Given the description of an element on the screen output the (x, y) to click on. 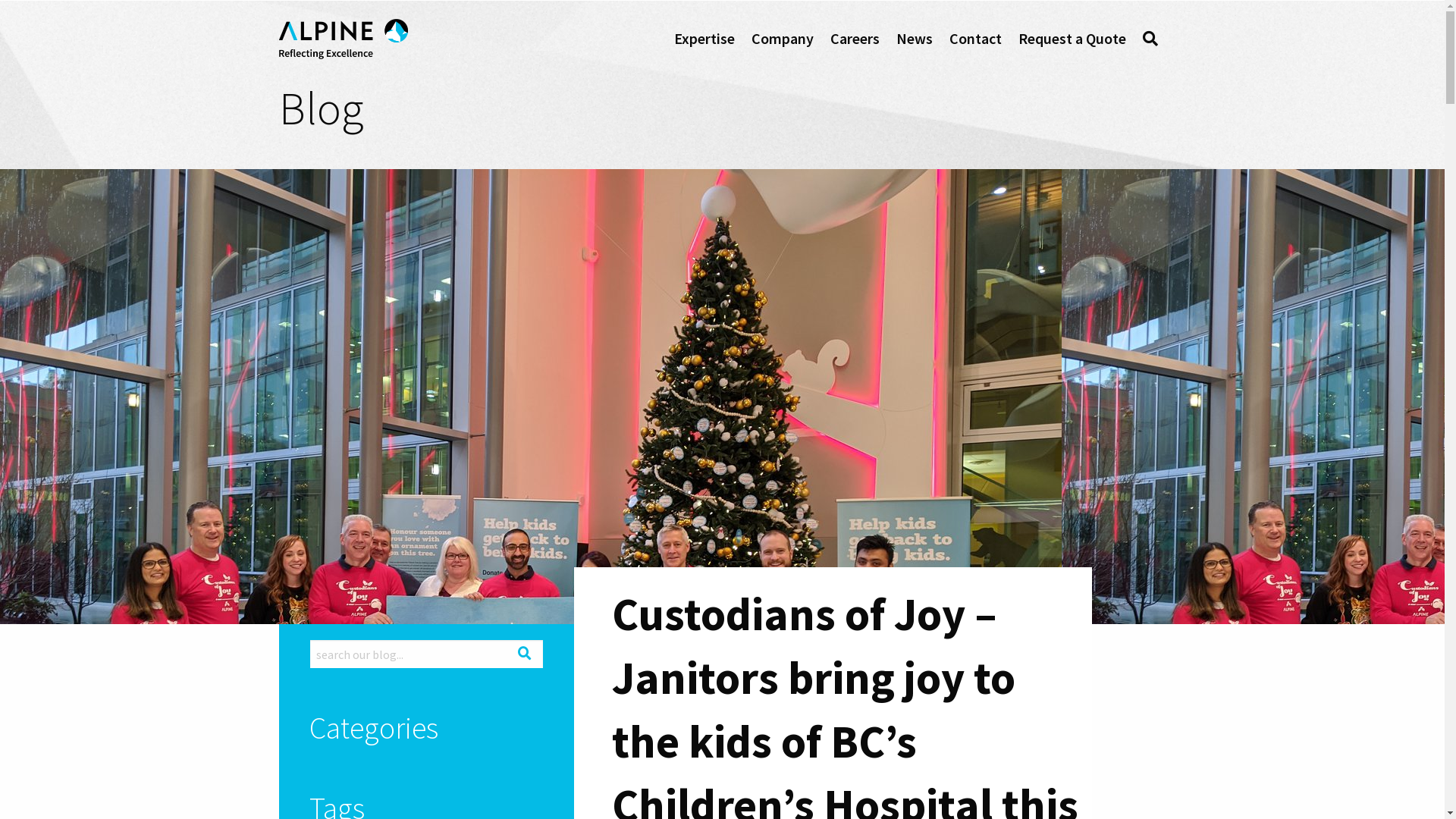
Contact Element type: text (975, 42)
Company Element type: text (781, 42)
Request a Quote Element type: text (1071, 42)
News Element type: text (914, 42)
Expertise Element type: text (703, 42)
Careers Element type: text (853, 42)
